Given the description of an element on the screen output the (x, y) to click on. 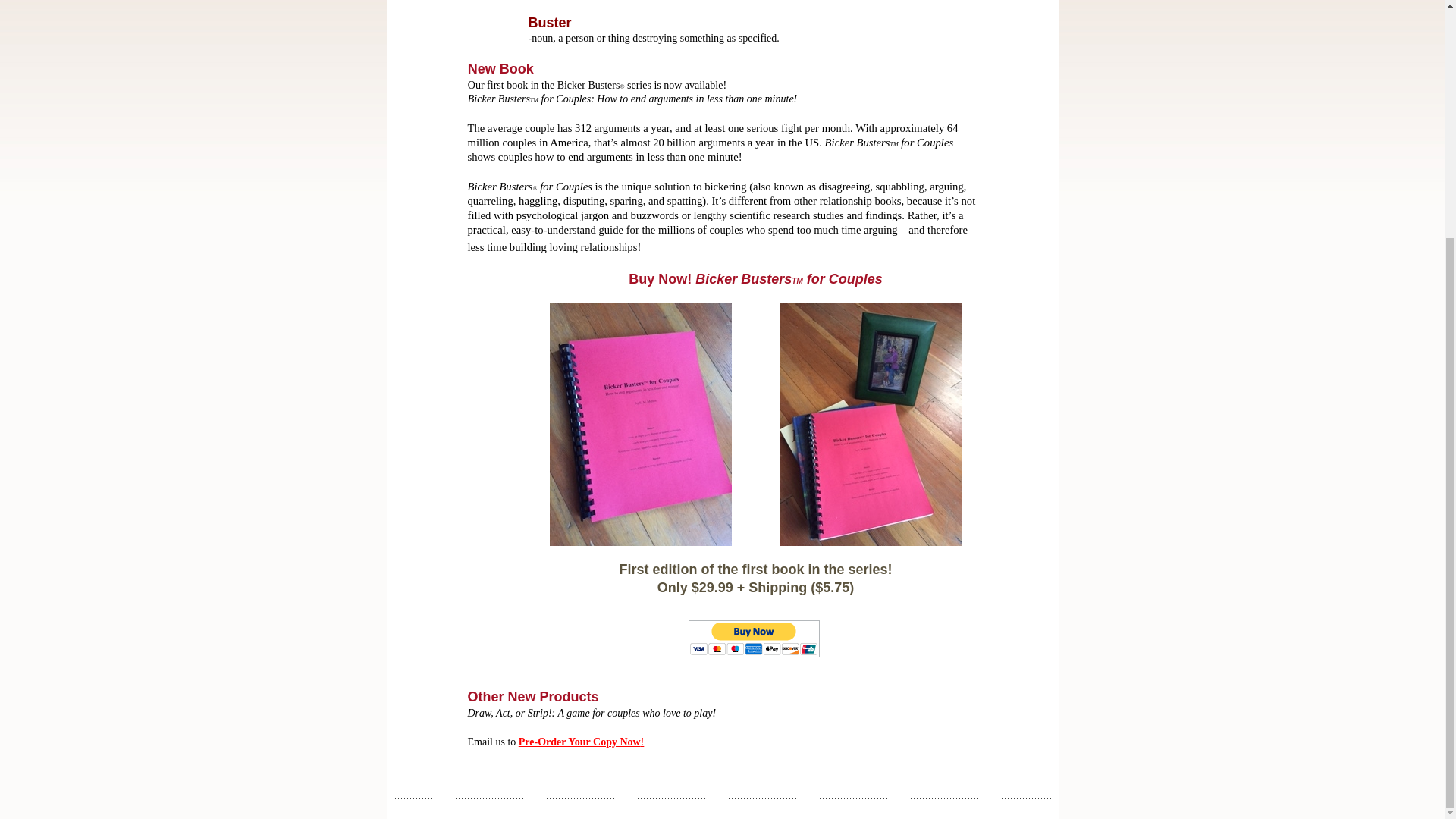
Pre-Order Your Copy Now (579, 742)
